Given the description of an element on the screen output the (x, y) to click on. 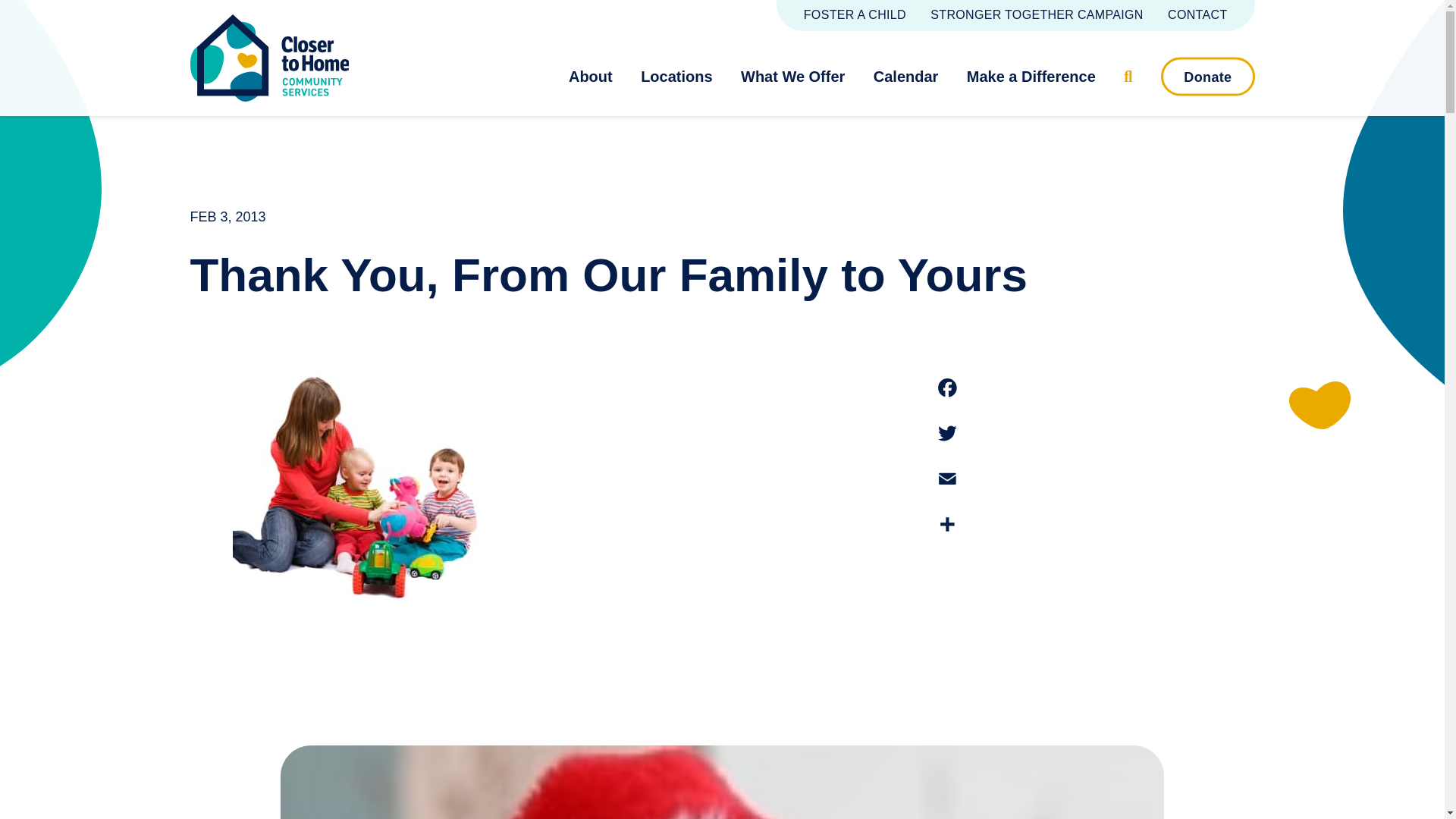
What We Offer (800, 75)
Calendar (913, 75)
About (598, 75)
CONTACT (1197, 14)
FOSTER A CHILD (854, 14)
Facebook (948, 388)
Twitter (948, 433)
STRONGER TOGETHER CAMPAIGN (1036, 14)
Email (948, 479)
Locations (683, 75)
Make a Difference (1037, 75)
